Given the description of an element on the screen output the (x, y) to click on. 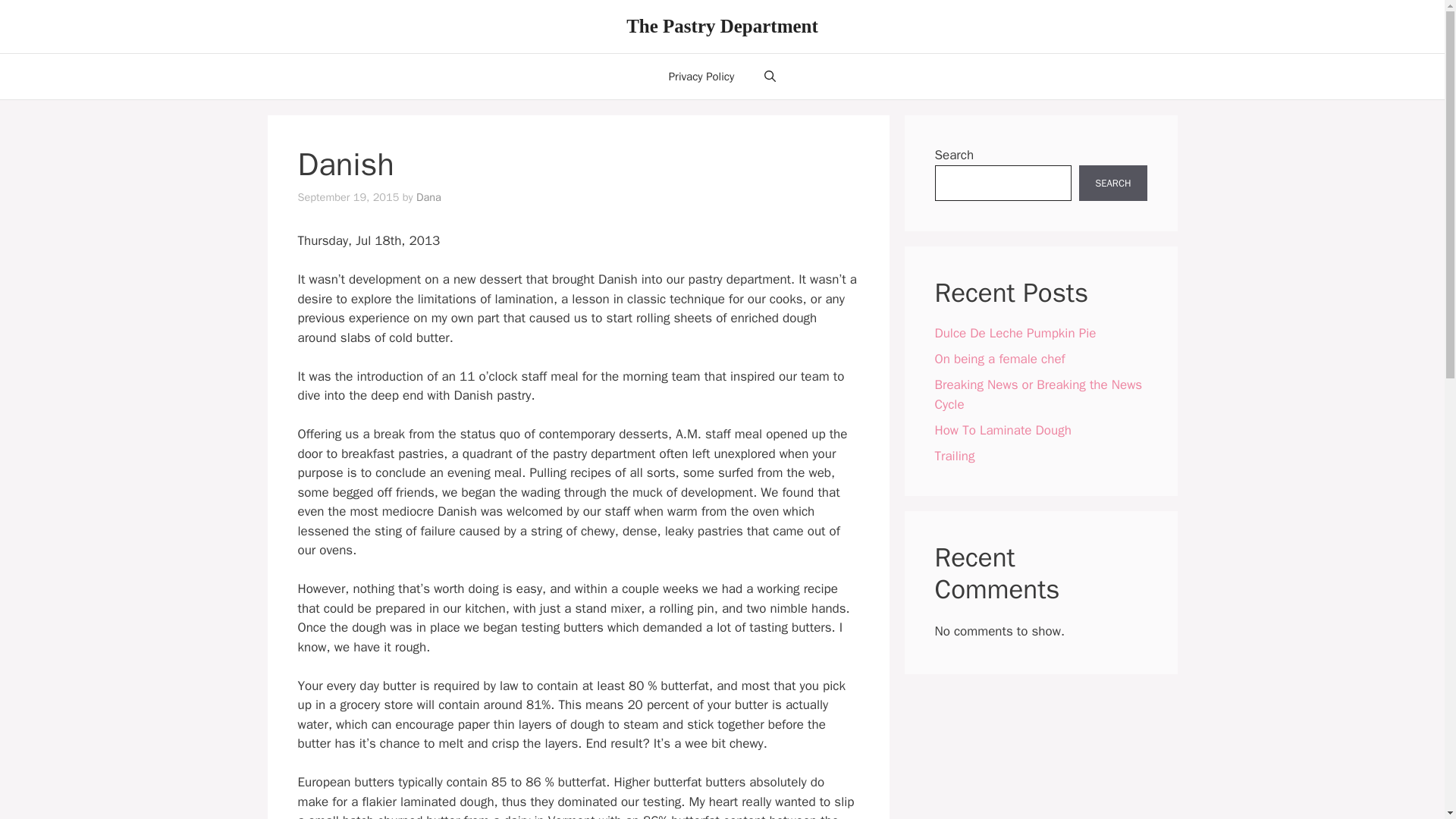
Privacy Policy (701, 76)
On being a female chef (999, 358)
The Pastry Department (722, 25)
How To Laminate Dough (1002, 429)
SEARCH (1112, 183)
Dulce De Leche Pumpkin Pie (1015, 333)
Breaking News or Breaking the News Cycle (1037, 394)
Dana (428, 196)
Trailing (954, 455)
View all posts by Dana (428, 196)
